Given the description of an element on the screen output the (x, y) to click on. 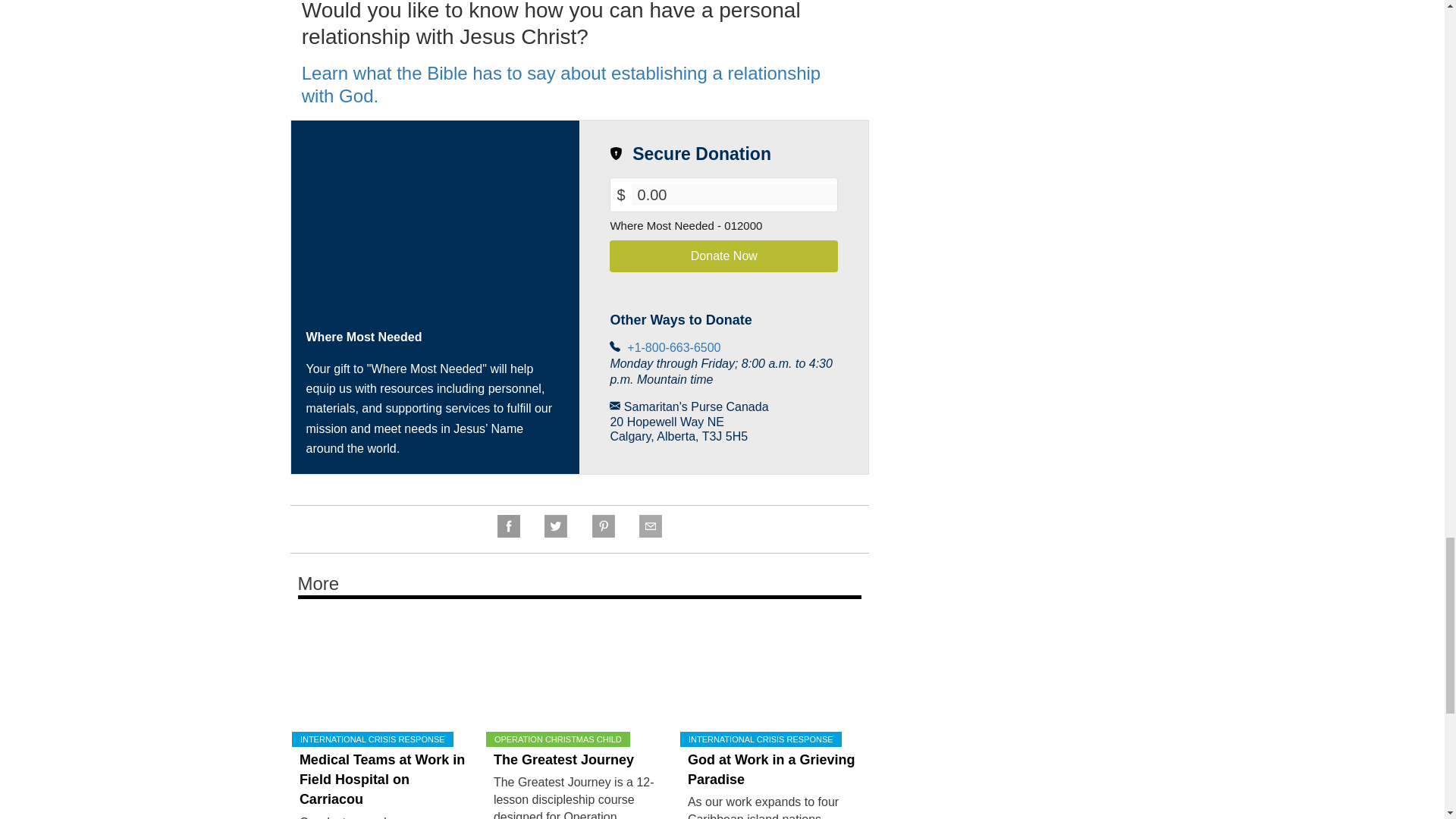
Share by Email (649, 533)
0.00 (734, 194)
